Given the description of an element on the screen output the (x, y) to click on. 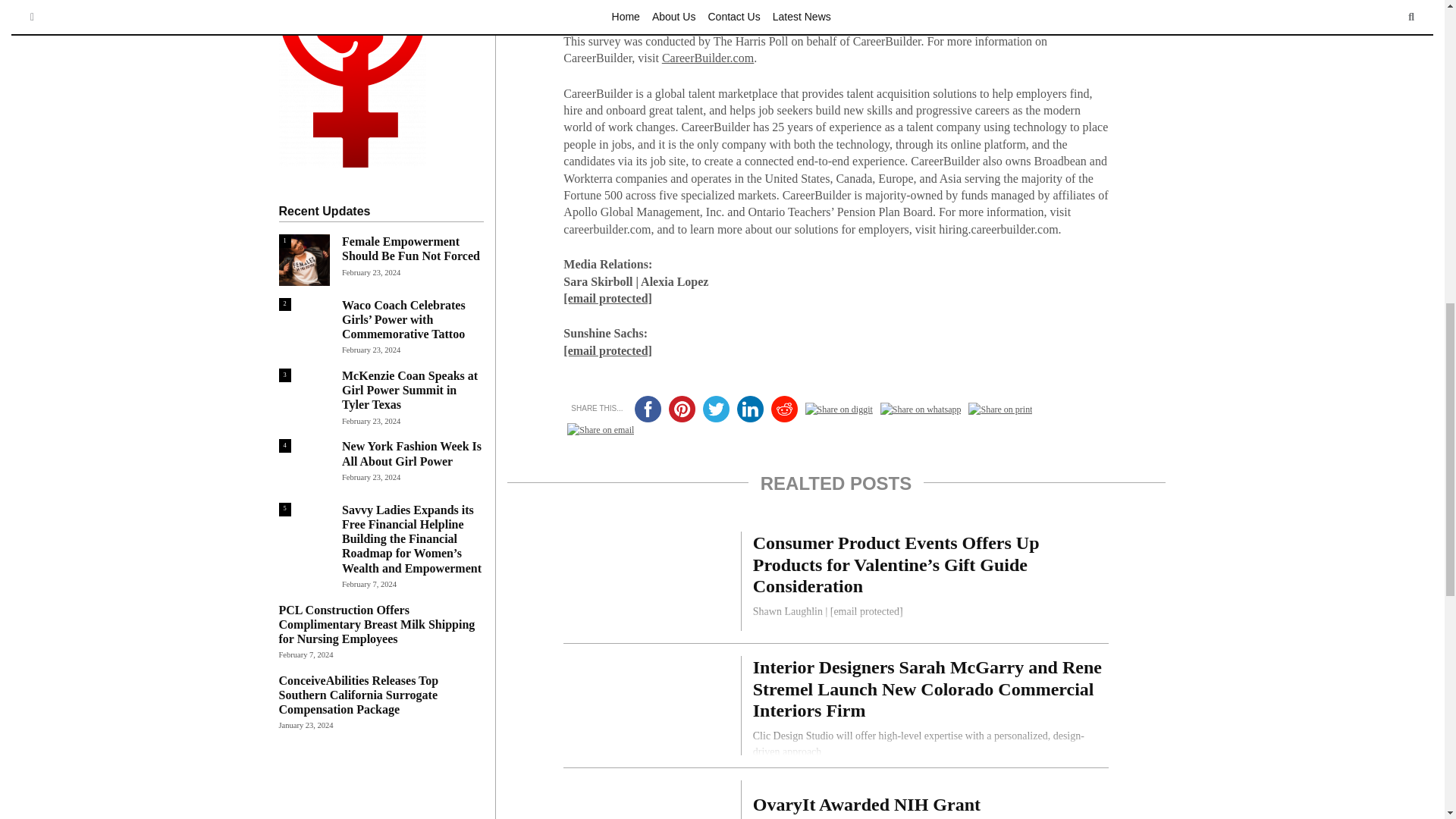
CareerBuilder.com (708, 57)
pinterest (681, 408)
facebook (647, 408)
